Given the description of an element on the screen output the (x, y) to click on. 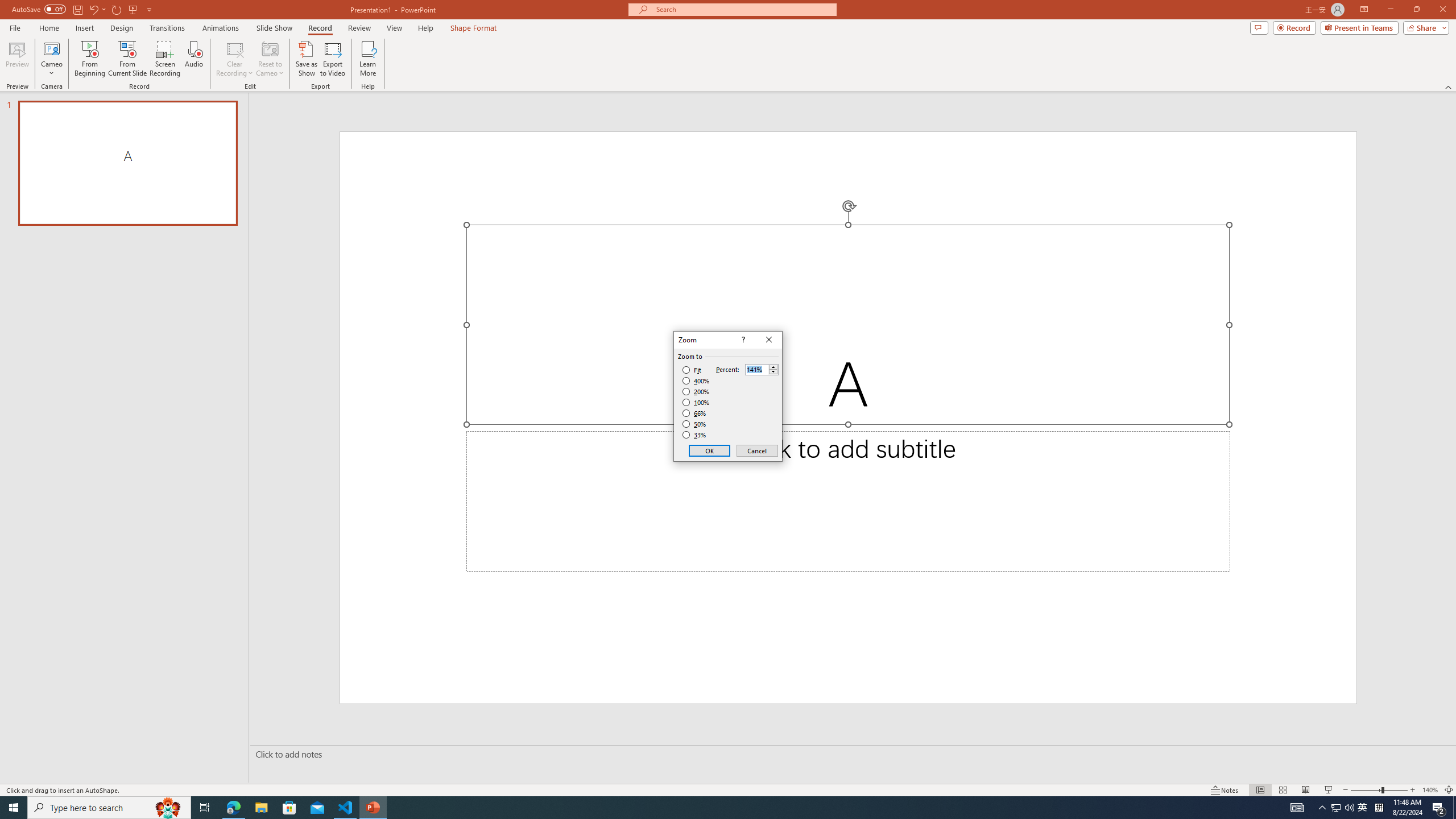
400% (696, 380)
33% (694, 434)
Percent (761, 369)
